Given the description of an element on the screen output the (x, y) to click on. 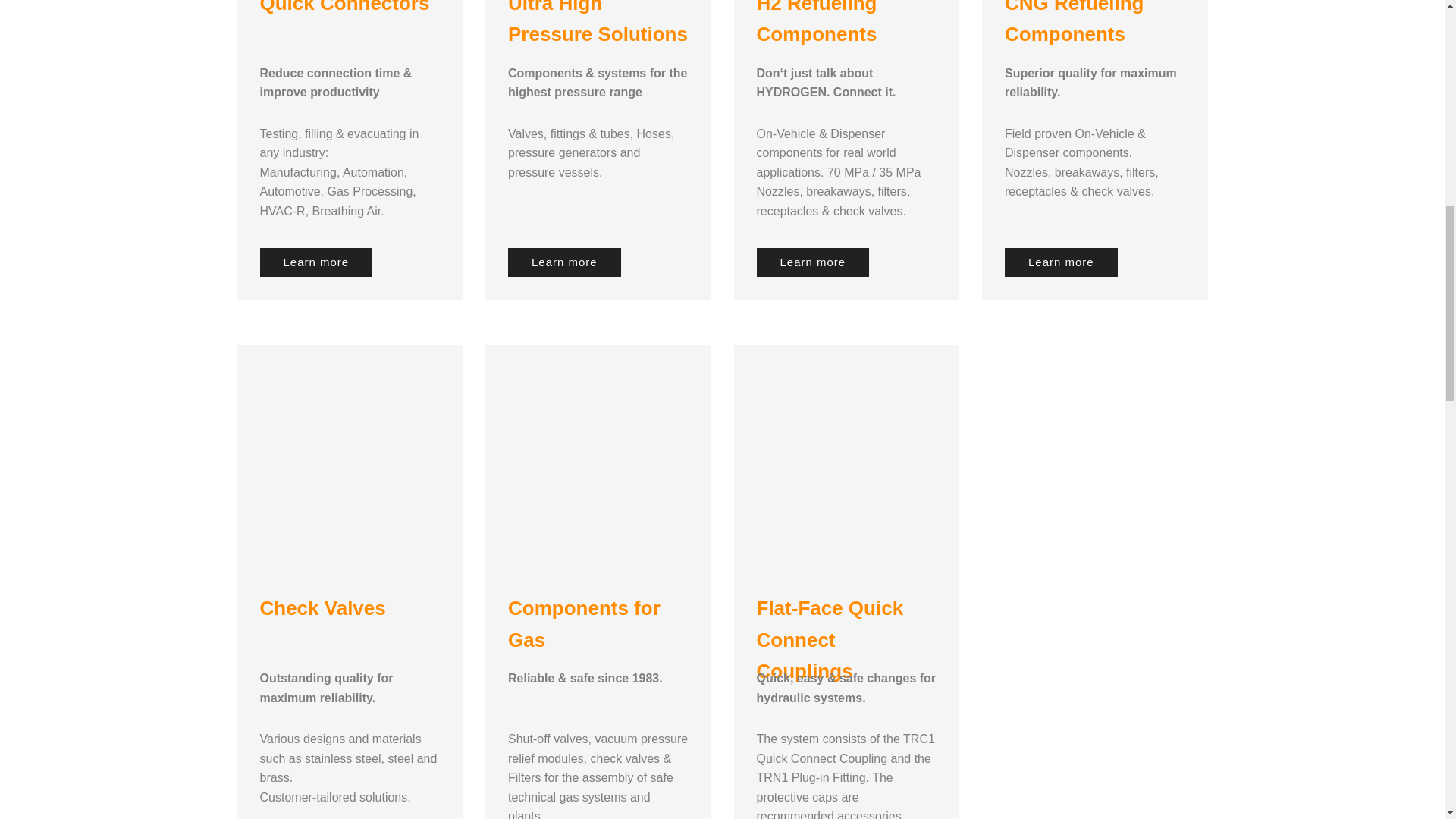
Learn more (315, 261)
Learn more (813, 261)
Learn more (1061, 261)
Learn more (564, 261)
